Given the description of an element on the screen output the (x, y) to click on. 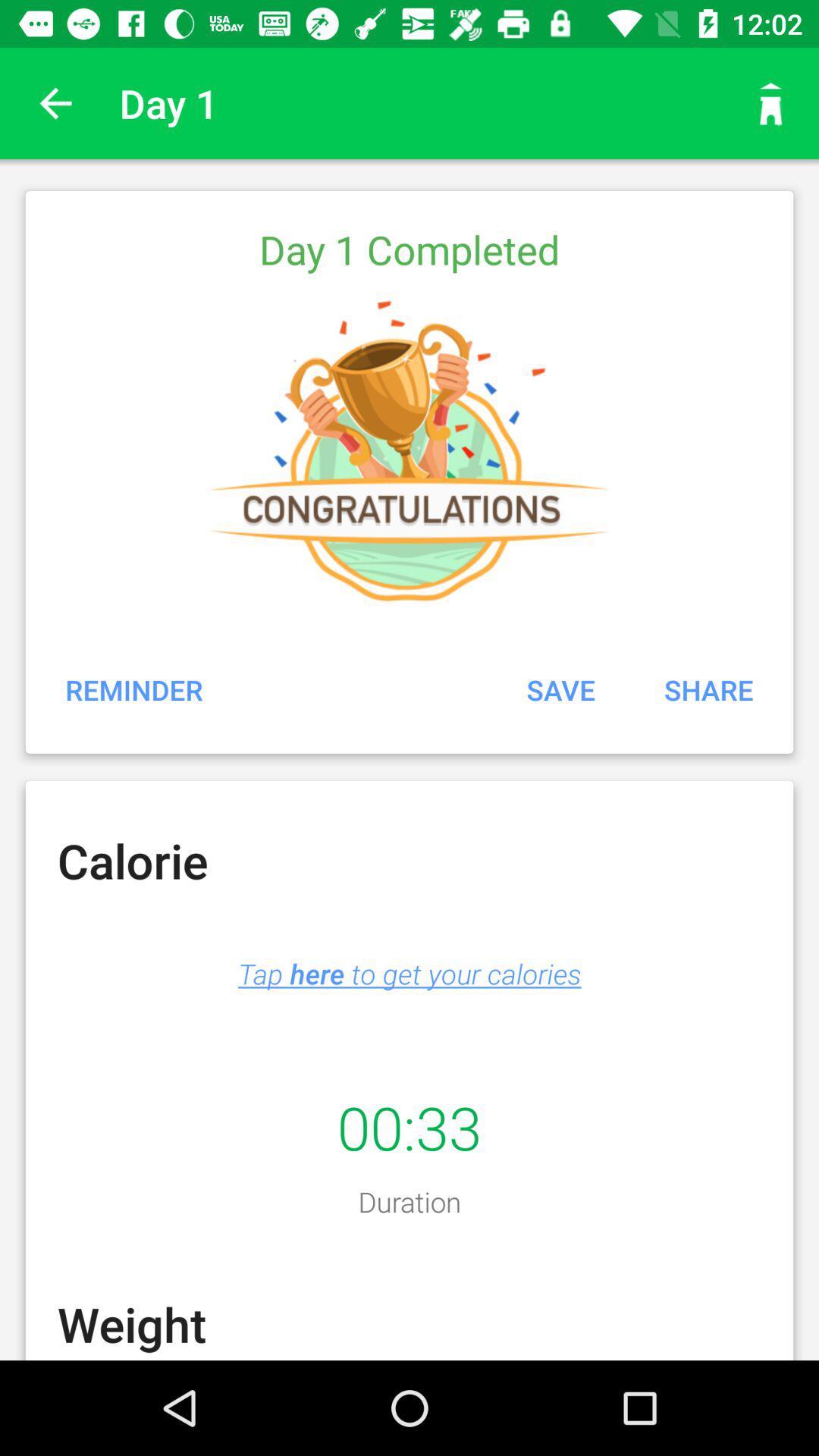
go home (771, 103)
